Given the description of an element on the screen output the (x, y) to click on. 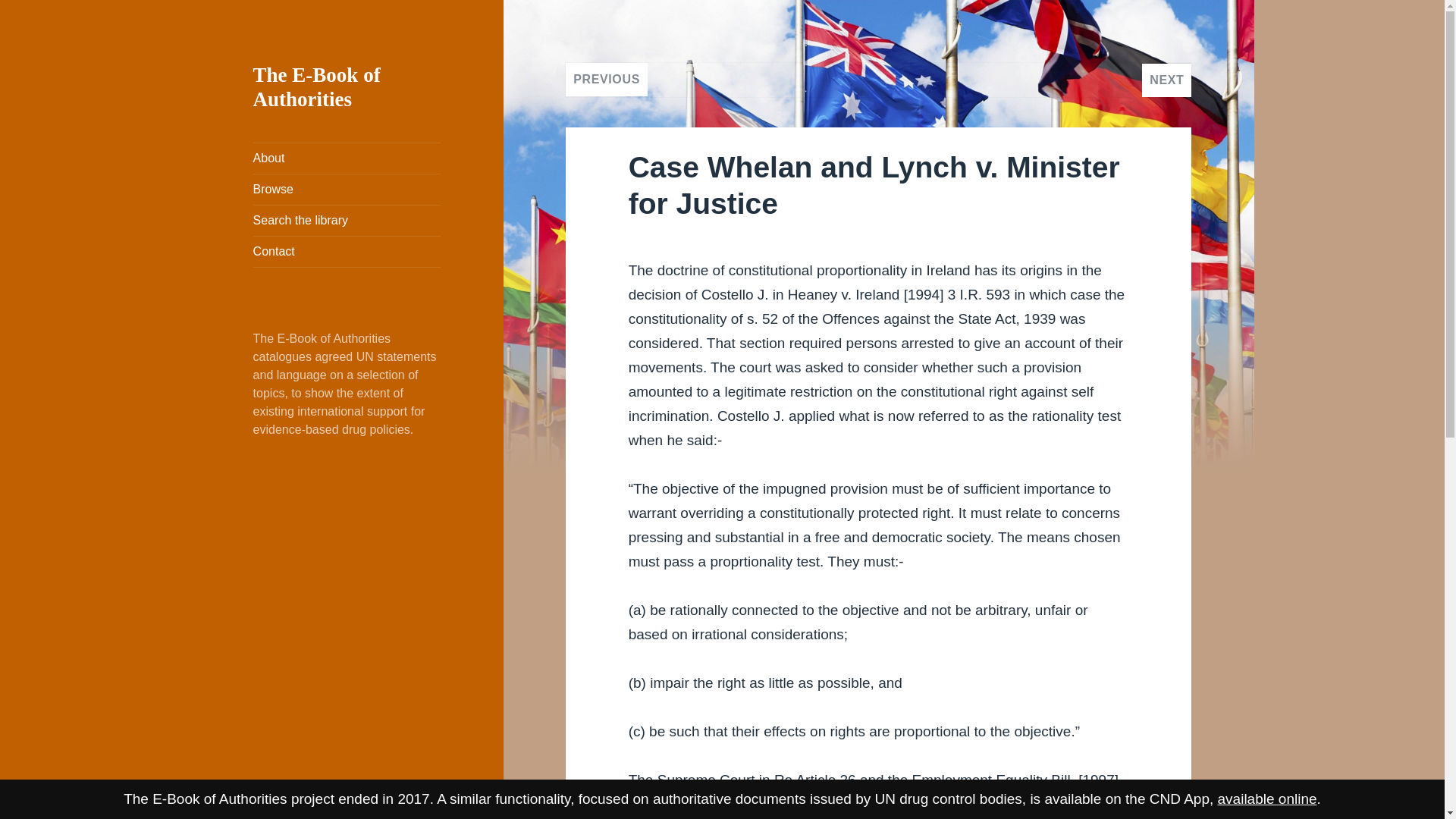
PREVIOUS (606, 79)
Search the library (347, 220)
Browse (347, 189)
Contact (347, 251)
About (347, 158)
available online (1267, 798)
NEXT (1166, 80)
The E-Book of Authorities (316, 86)
